Given the description of an element on the screen output the (x, y) to click on. 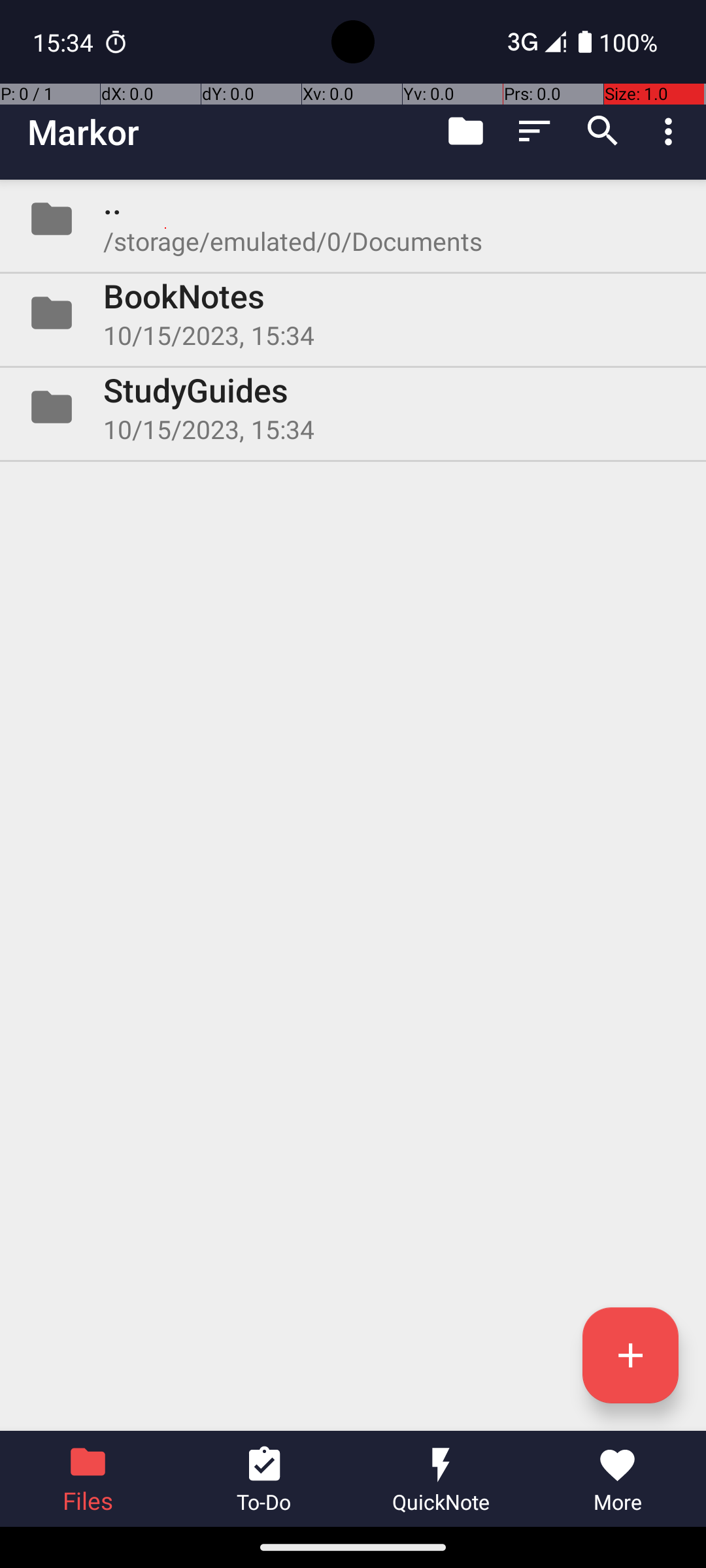
Folder BookNotes  Element type: android.widget.LinearLayout (353, 312)
Folder StudyGuides  Element type: android.widget.LinearLayout (353, 406)
